Given the description of an element on the screen output the (x, y) to click on. 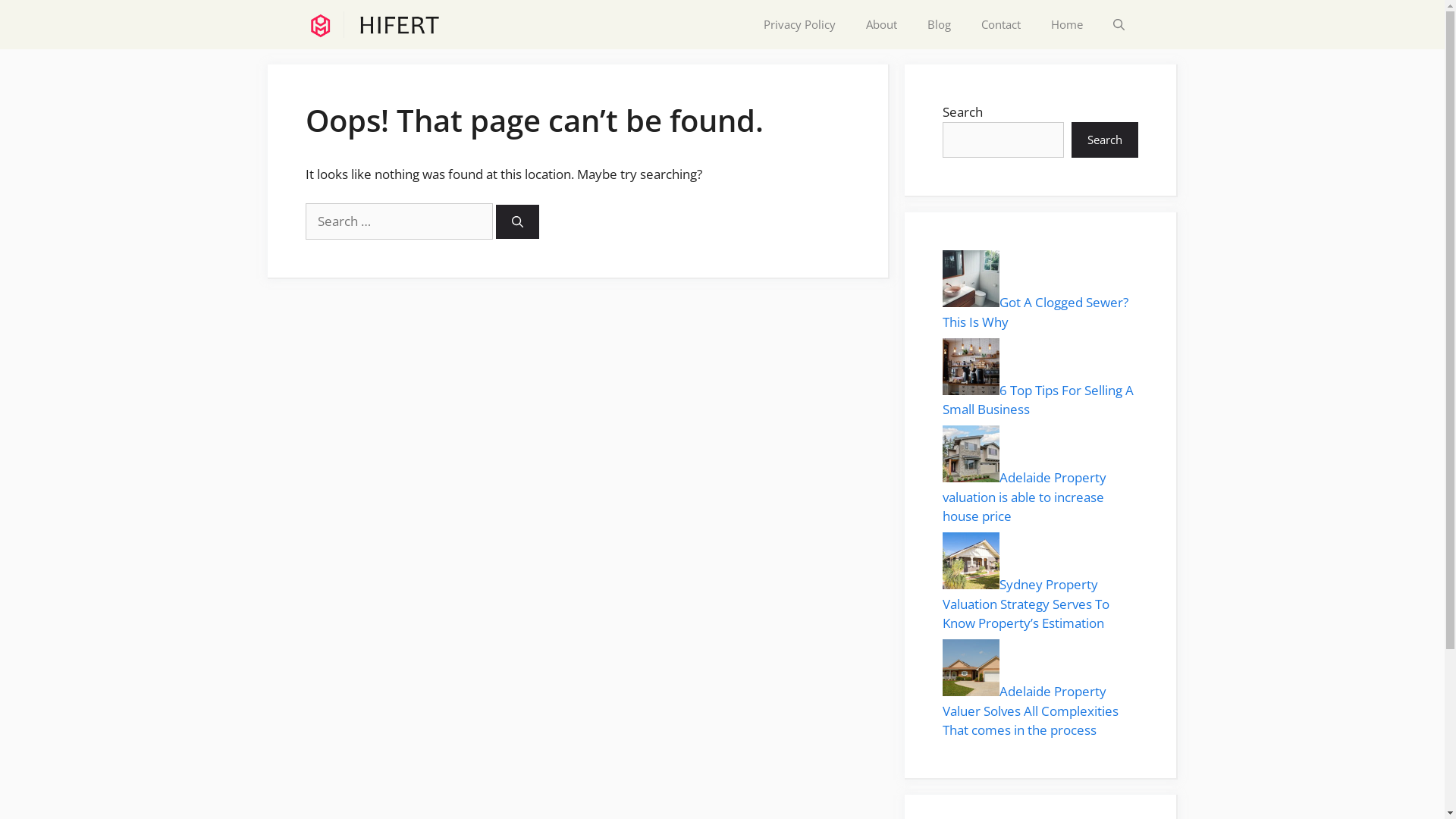
Search Element type: text (1103, 139)
Blog Element type: text (938, 24)
About Element type: text (881, 24)
Contact Element type: text (1000, 24)
Adelaide Property valuation is able to increase house price Element type: text (1023, 496)
Search for: Element type: hover (398, 221)
6 Top Tips For Selling A Small Business Element type: text (1036, 398)
Home Element type: text (1066, 24)
hifert.com.au Element type: hover (374, 24)
Privacy Policy Element type: text (798, 24)
Got A Clogged Sewer? This Is Why Element type: text (1034, 311)
